Given the description of an element on the screen output the (x, y) to click on. 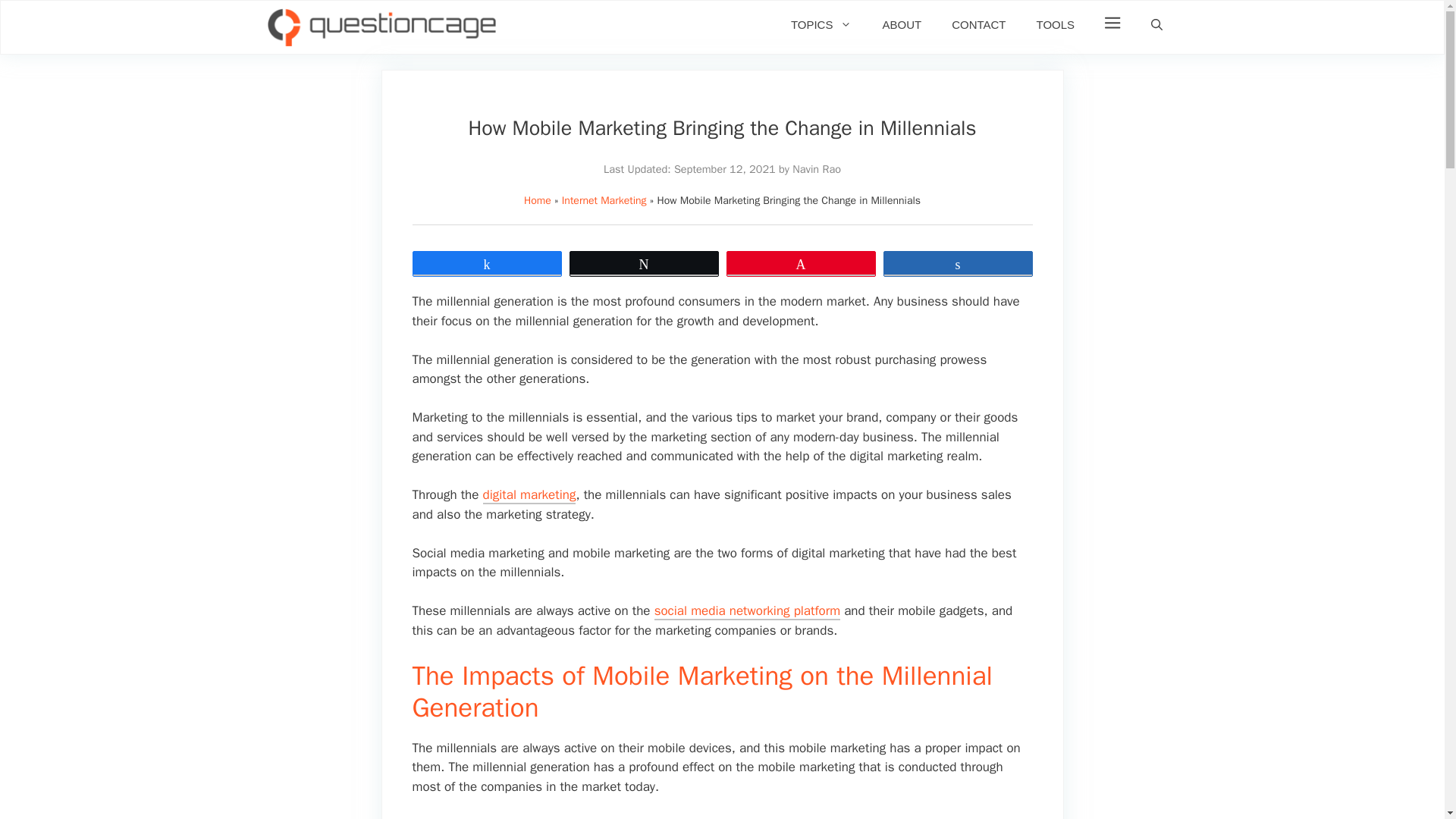
View all posts by Navin Rao (816, 169)
Home (537, 200)
CONTACT (978, 24)
QuestionCage (381, 27)
Navin Rao (816, 169)
Internet Marketing (604, 200)
TOOLS (1056, 24)
TOPICS (821, 24)
ABOUT (901, 24)
